Given the description of an element on the screen output the (x, y) to click on. 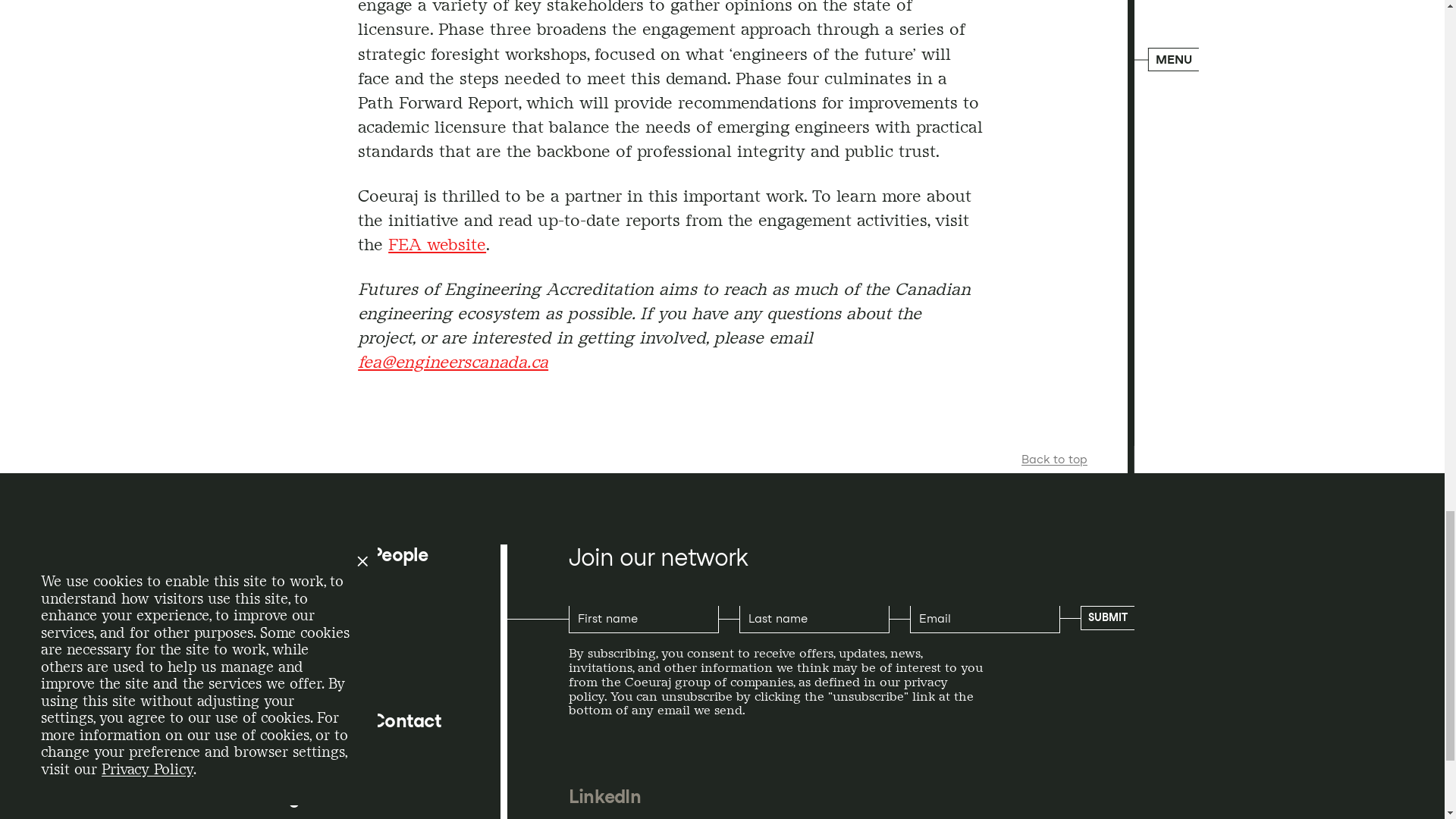
LinkedIn (604, 796)
People (399, 554)
Work (269, 665)
FEA website (437, 243)
Ideas (269, 609)
Careers (280, 721)
About (273, 554)
LinkedIn (604, 796)
Back to top (1054, 459)
Contact (406, 721)
